Given the description of an element on the screen output the (x, y) to click on. 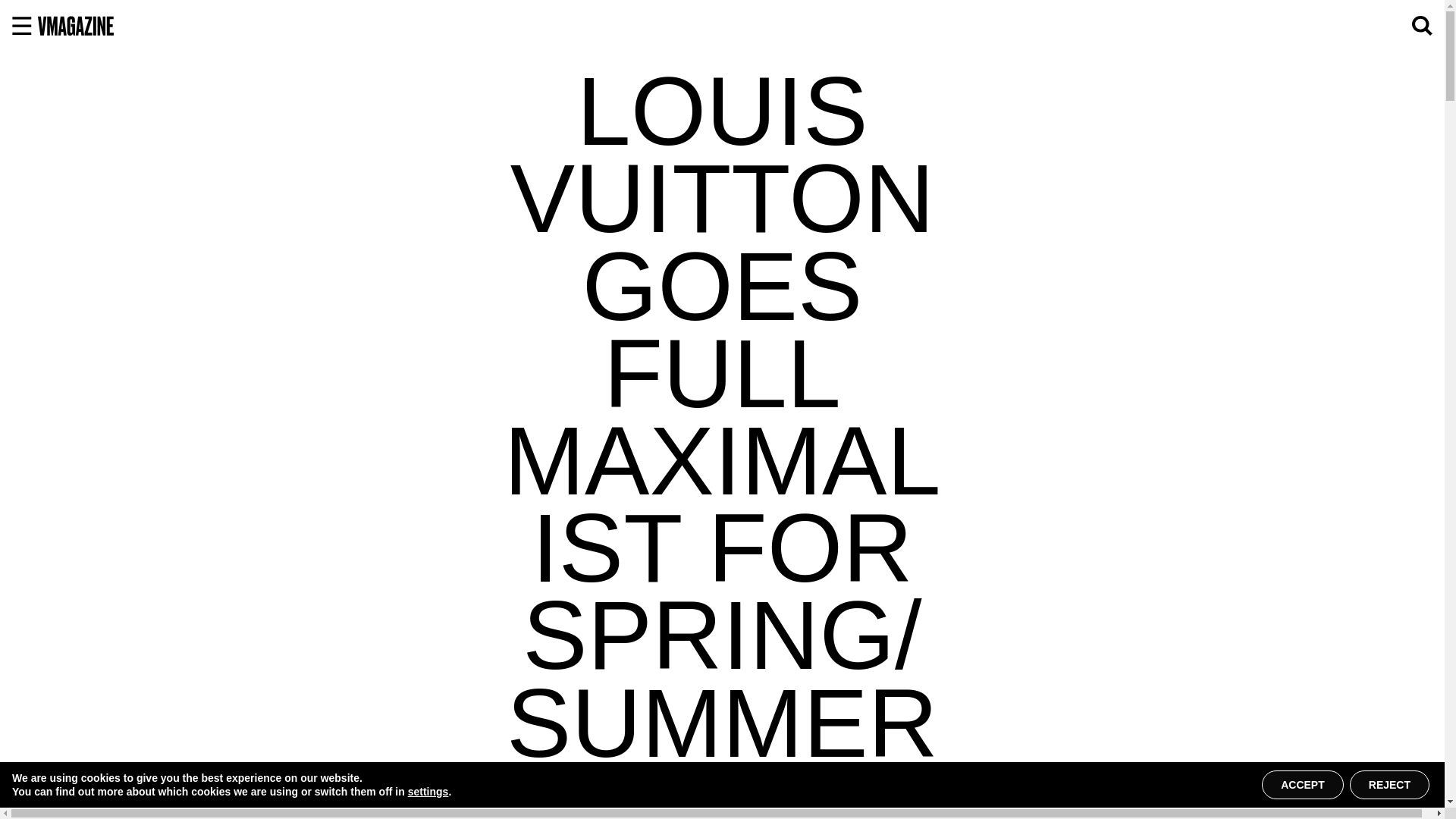
ACCEPT (1302, 784)
REJECT (1389, 784)
settings (427, 791)
